Given the description of an element on the screen output the (x, y) to click on. 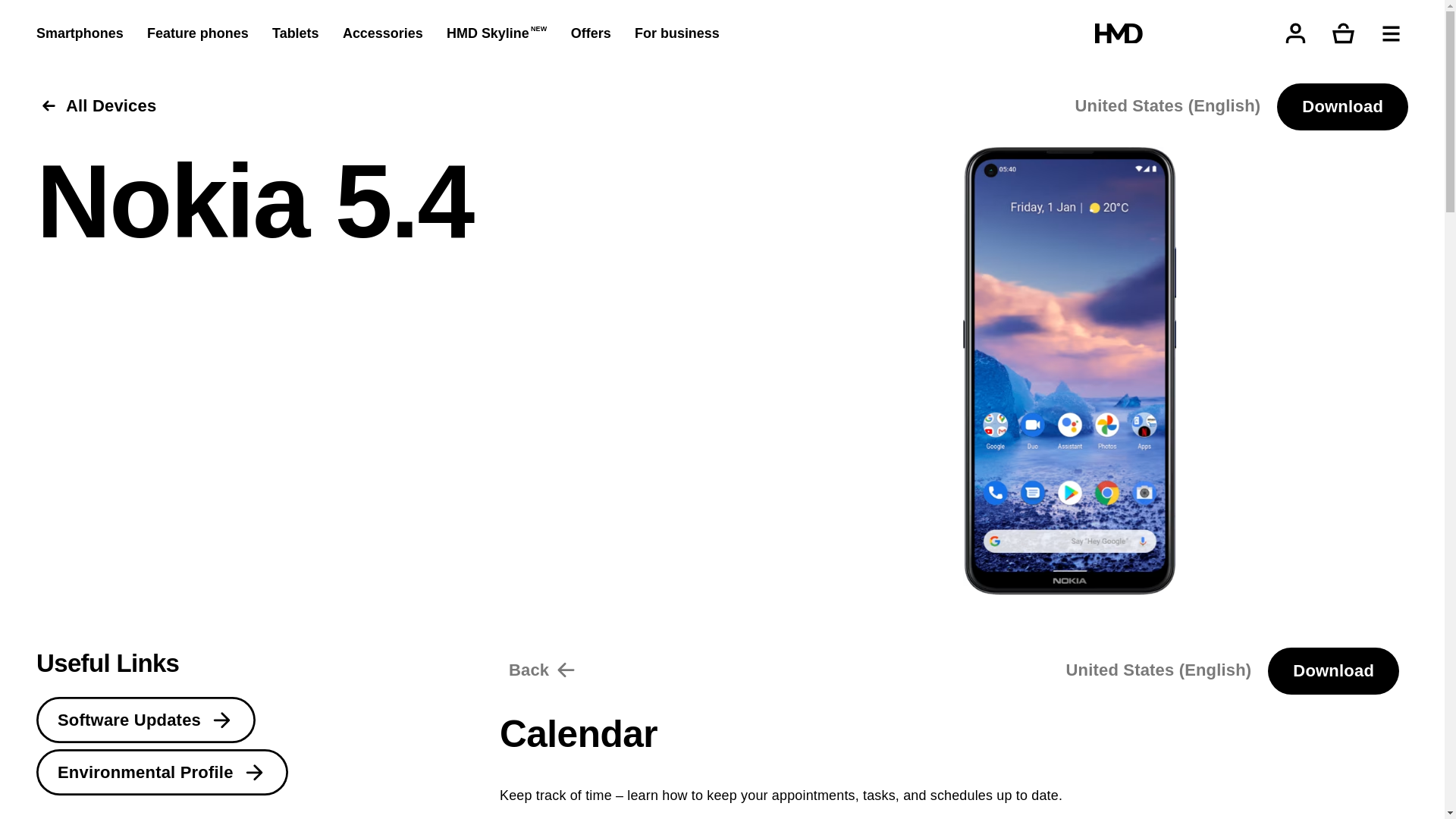
For business (734, 760)
United States (101, 766)
Tablets (682, 579)
Smartphones (738, 489)
All Devices (95, 106)
Offers (674, 714)
Support (319, 733)
Smartphones (79, 33)
My account (116, 63)
Tablets (295, 33)
